Given the description of an element on the screen output the (x, y) to click on. 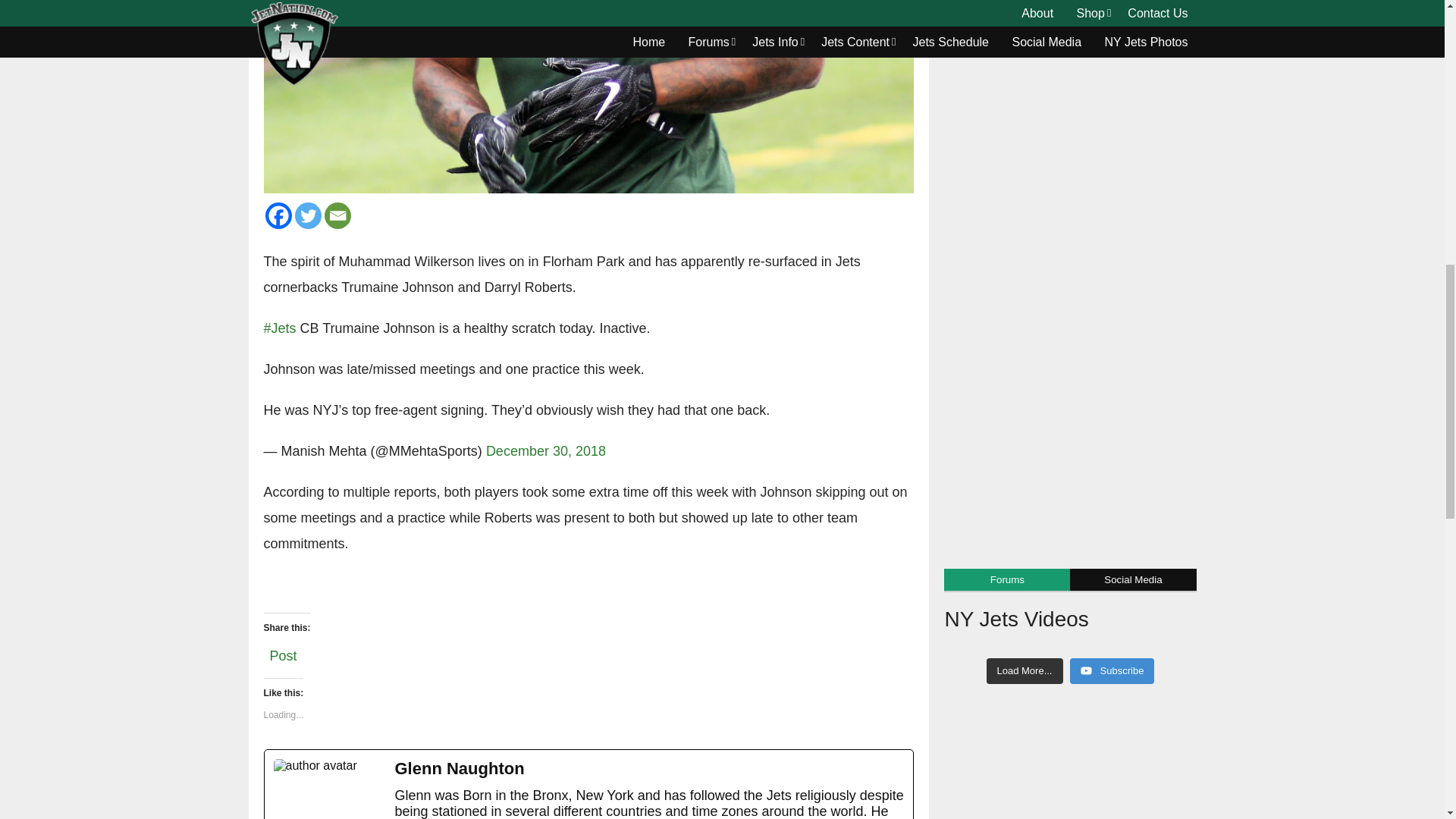
Facebook (278, 215)
Twitter (307, 215)
Email (337, 215)
